Given the description of an element on the screen output the (x, y) to click on. 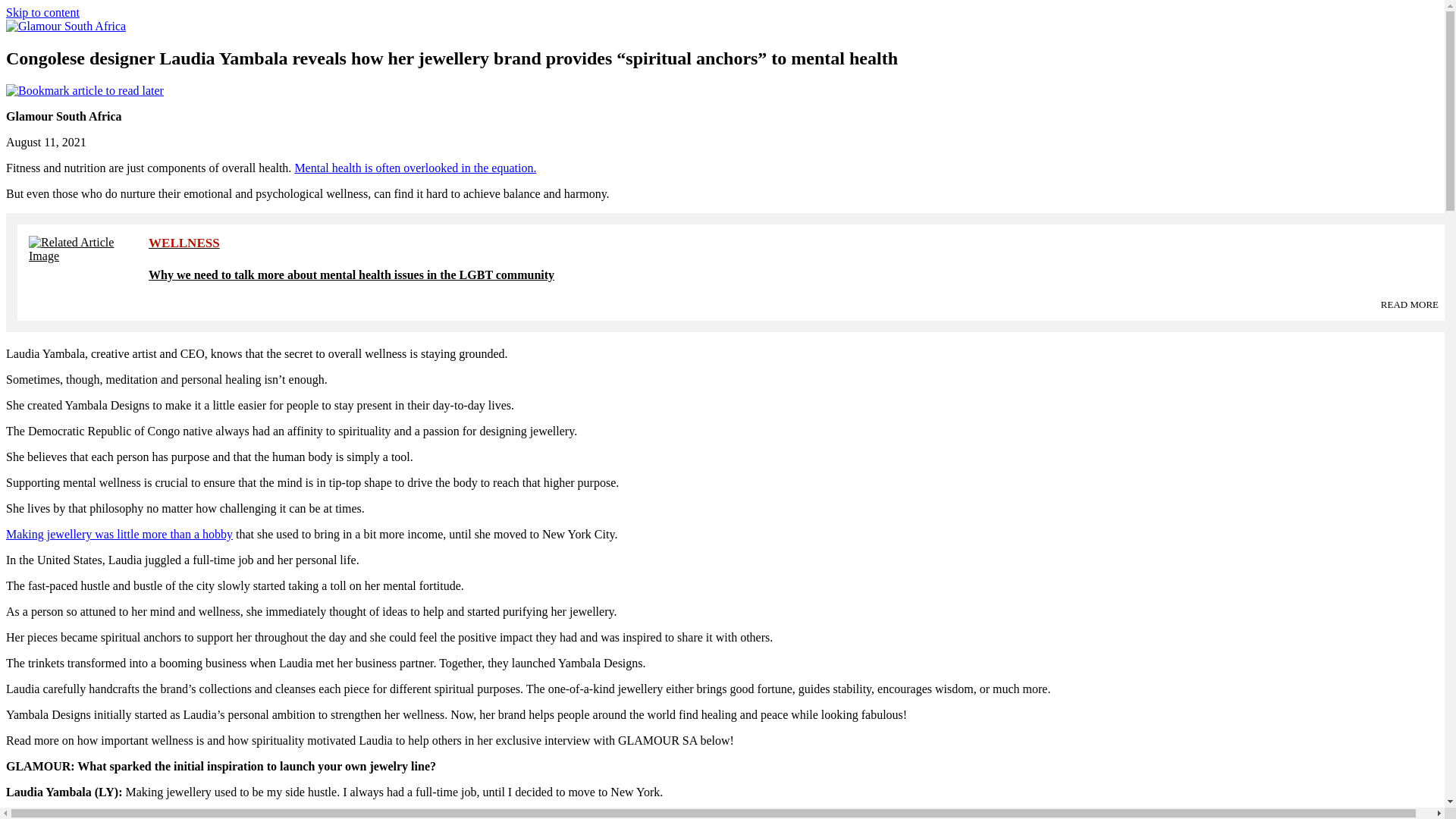
Skip to content (42, 11)
Mental health is often overlooked in the equation. (414, 167)
Making jewellery was little more than a hobby (118, 533)
